Given the description of an element on the screen output the (x, y) to click on. 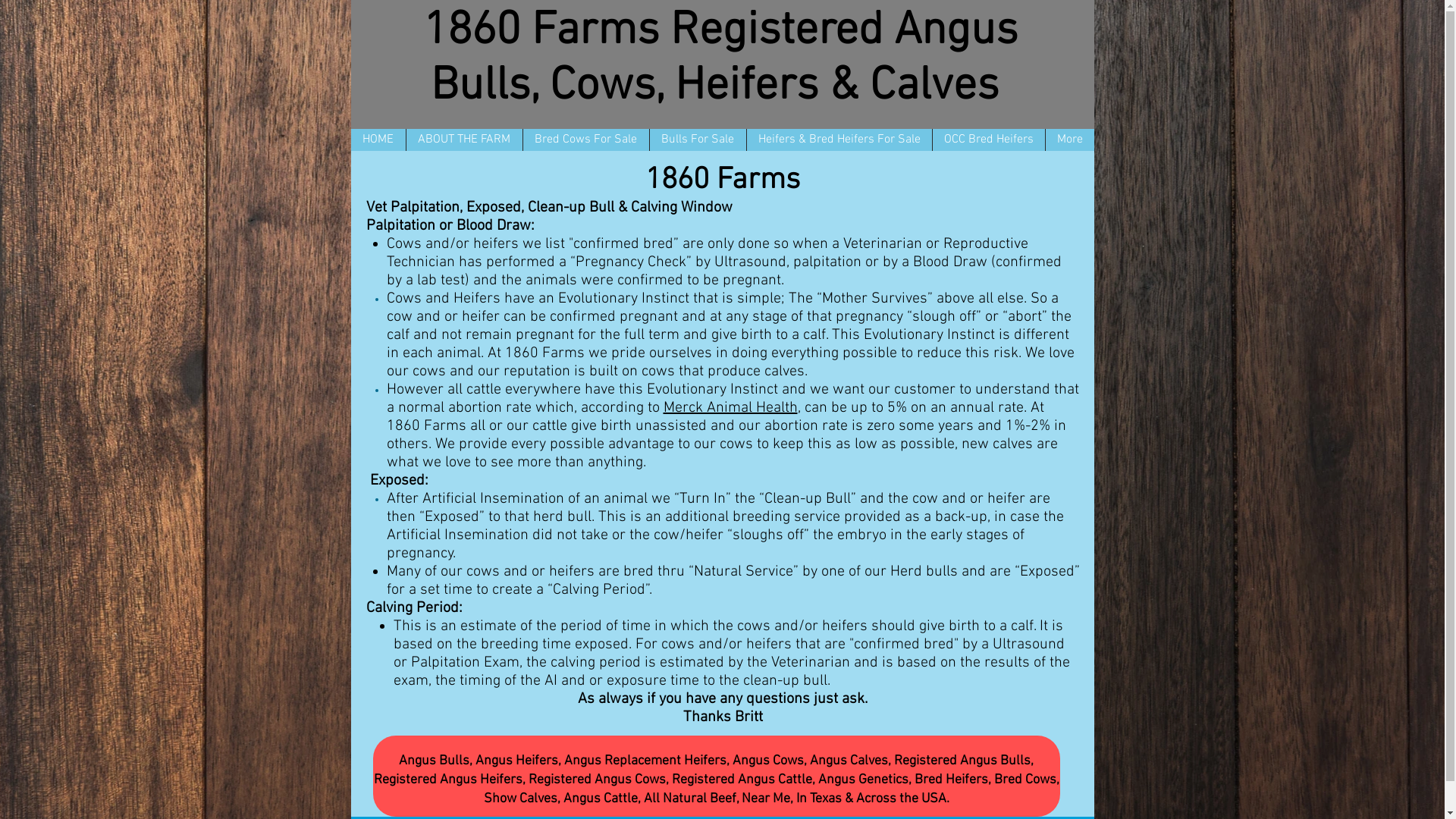
OCC Bred Heifers Element type: text (987, 139)
Heifers & Bred Heifers For Sale Element type: text (838, 139)
1860 Farms Registered Angus Element type: text (720, 31)
Bulls, Cows, Heifers & Calves  Element type: text (720, 86)
HOME Element type: text (377, 139)
Merck Animal Health Element type: text (729, 407)
Bulls For Sale Element type: text (697, 139)
Log In Element type: text (1014, 74)
Bred Cows For Sale Element type: text (584, 139)
ABOUT THE FARM Element type: text (462, 139)
